Given the description of an element on the screen output the (x, y) to click on. 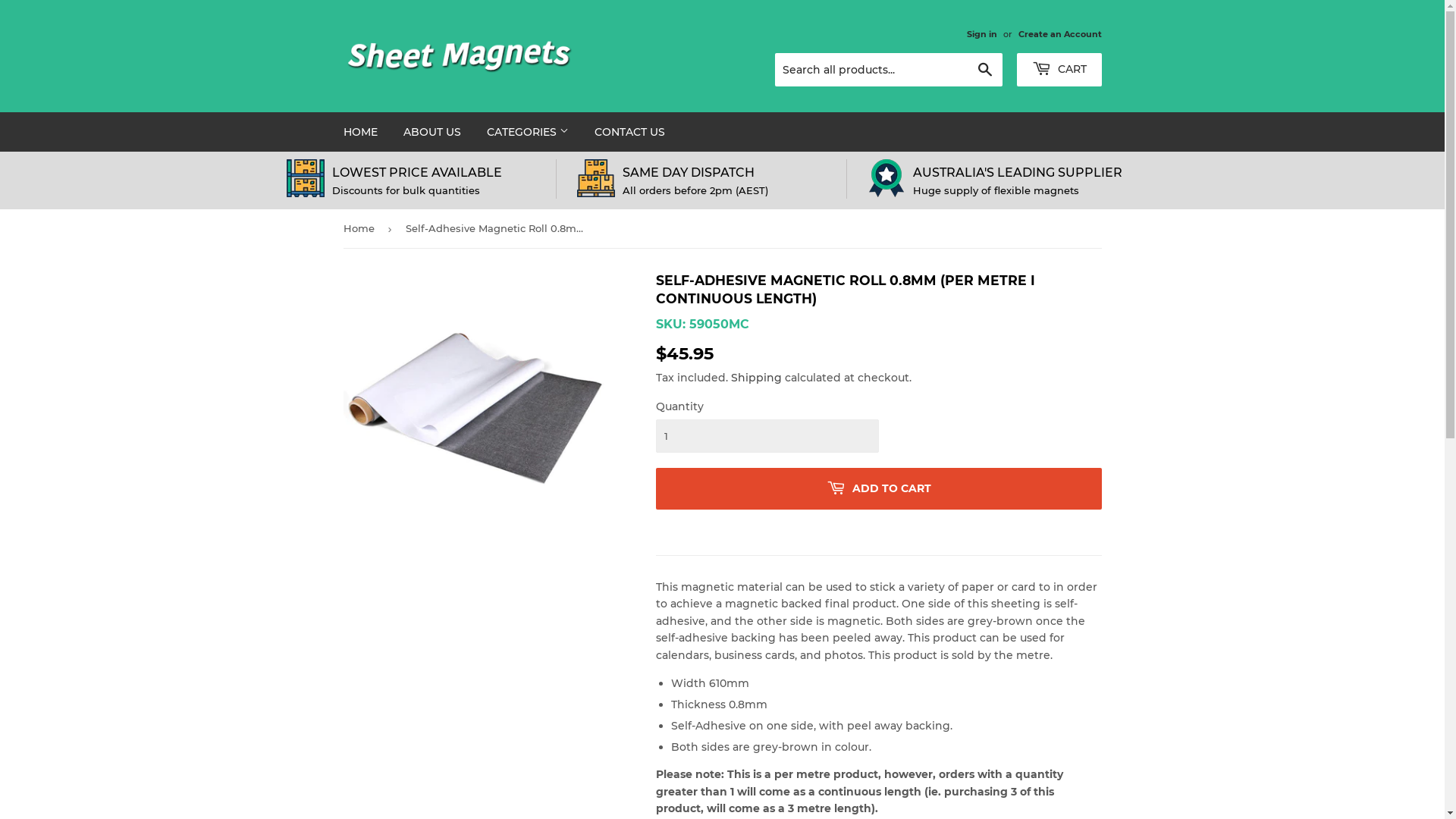
HOME Element type: text (360, 131)
ABOUT US Element type: text (431, 131)
CART Element type: text (1058, 69)
Create an Account Element type: text (1059, 33)
Shipping Element type: text (756, 377)
CATEGORIES Element type: text (526, 131)
Home Element type: text (360, 228)
CONTACT US Element type: text (628, 131)
Search Element type: text (984, 70)
ADD TO CART Element type: text (878, 488)
Sign in Element type: text (981, 33)
